Given the description of an element on the screen output the (x, y) to click on. 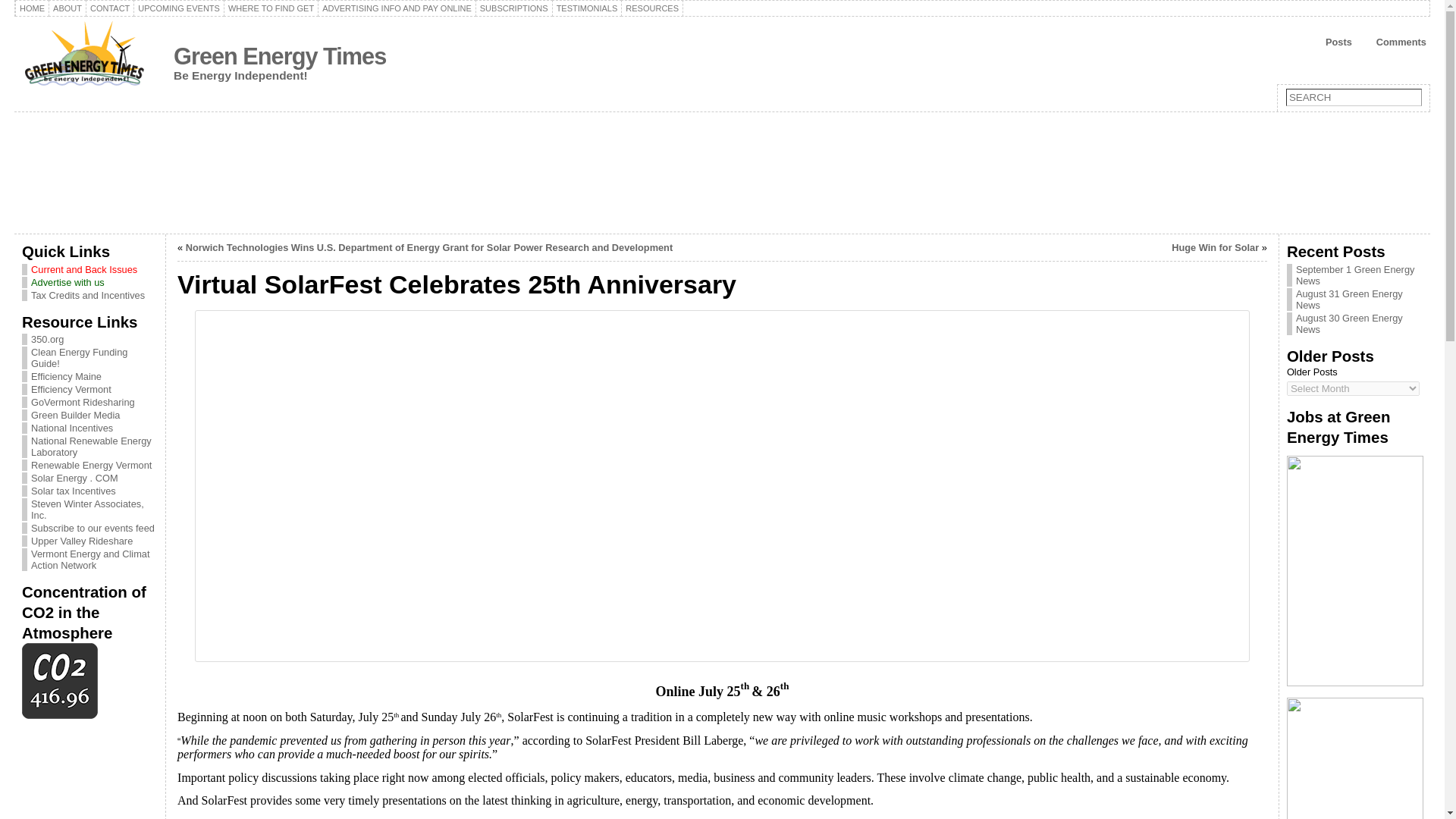
GoVermont Ridesharing (82, 401)
Solar tax Incentives (73, 490)
TESTIMONIALS (587, 8)
Subscribe to our events feed (92, 527)
National Renewable Energy Laboratory (90, 445)
VT Statewide Carpooling (82, 401)
Huge Win for Solar (1215, 247)
Sat. Oct. 24th is 350.org Day.  Get involved! (47, 338)
Solar Energy . COM (73, 478)
350.org (47, 338)
